Given the description of an element on the screen output the (x, y) to click on. 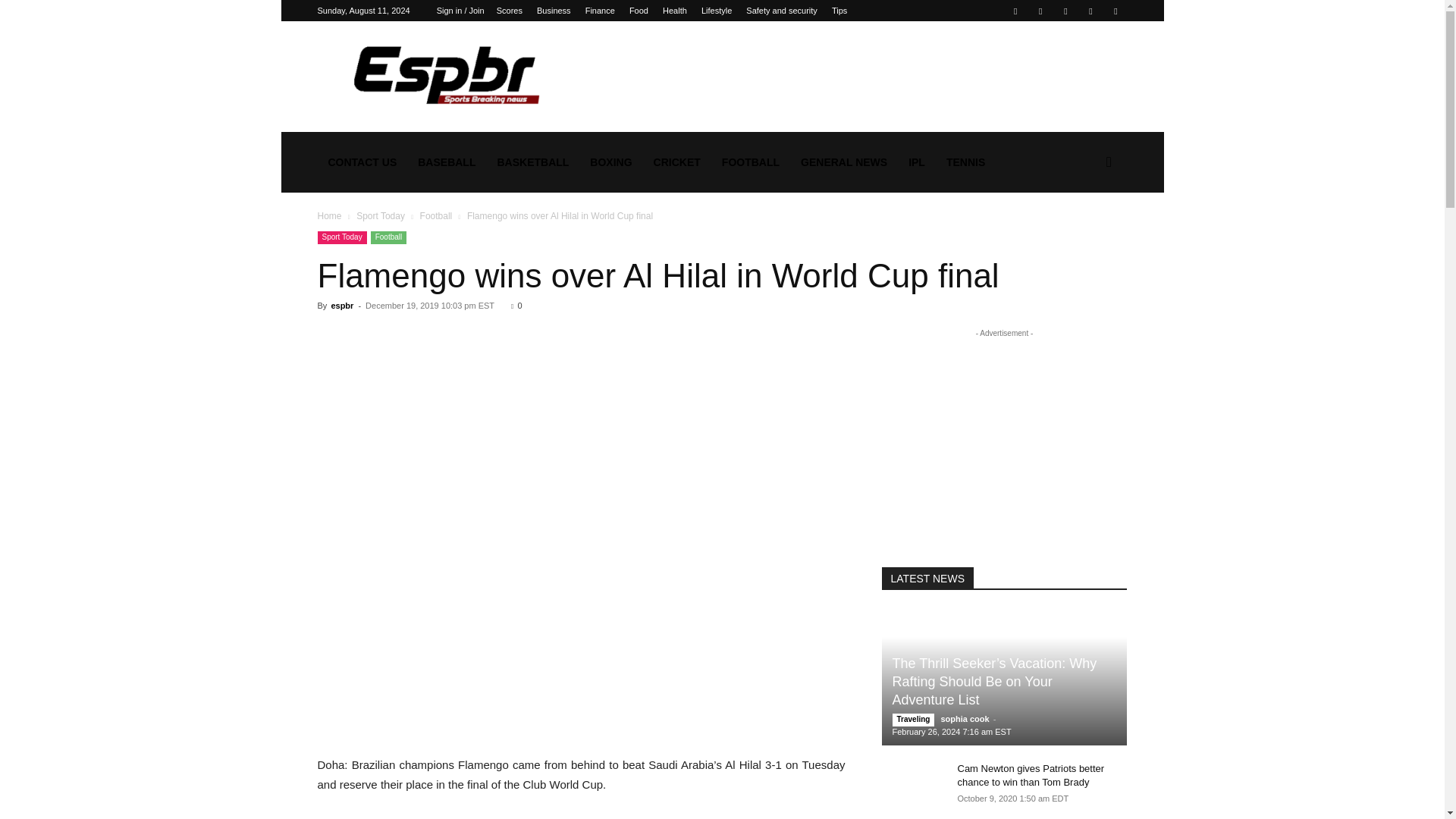
Facebook (1015, 10)
View all posts in Football (436, 215)
Food (637, 10)
Scores (509, 10)
Youtube (1114, 10)
View all posts in Sport Today (380, 215)
Finance (599, 10)
CONTACT US (362, 161)
Business (553, 10)
VKontakte (1090, 10)
